Given the description of an element on the screen output the (x, y) to click on. 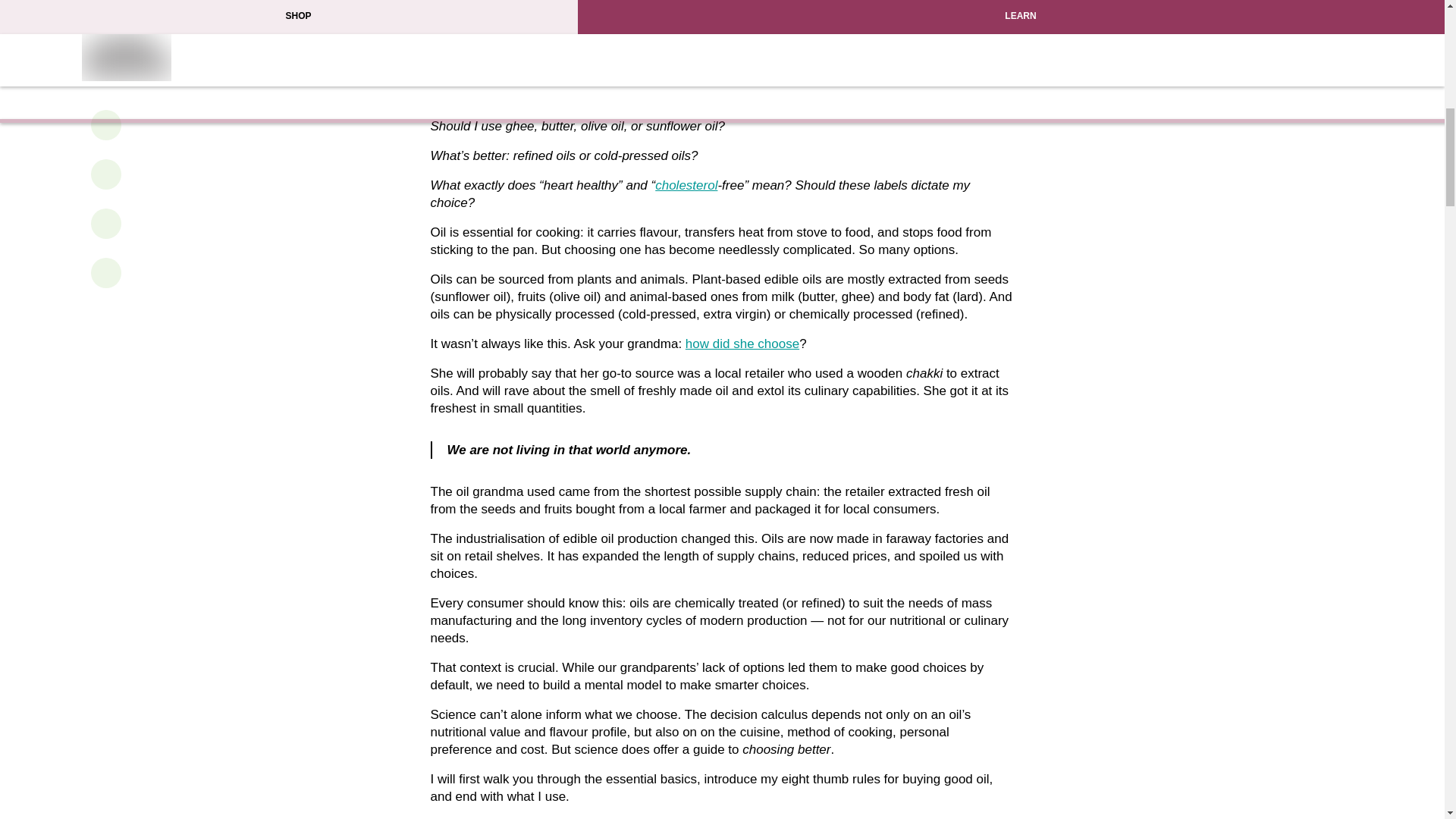
how did she choose (742, 343)
cholesterol (686, 185)
